Given the description of an element on the screen output the (x, y) to click on. 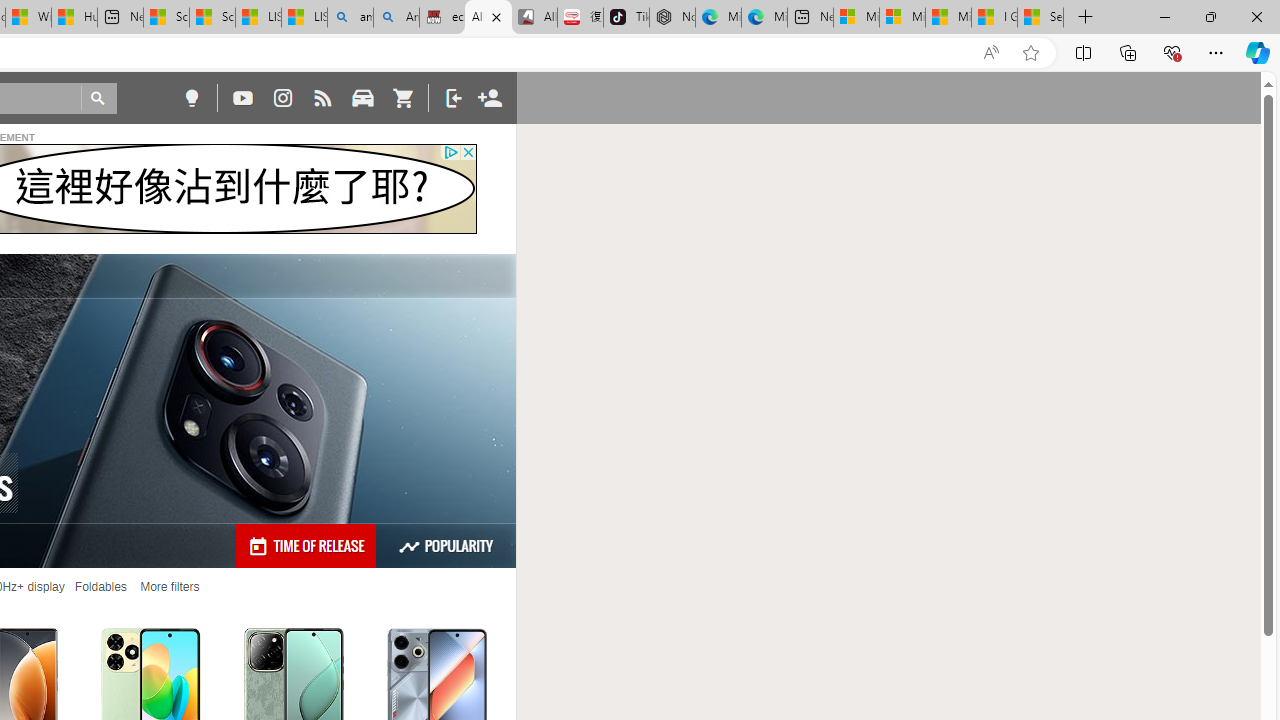
All Tecno phones (487, 17)
AutomationID: close_button_svg (468, 151)
Foldables (100, 587)
